Given the description of an element on the screen output the (x, y) to click on. 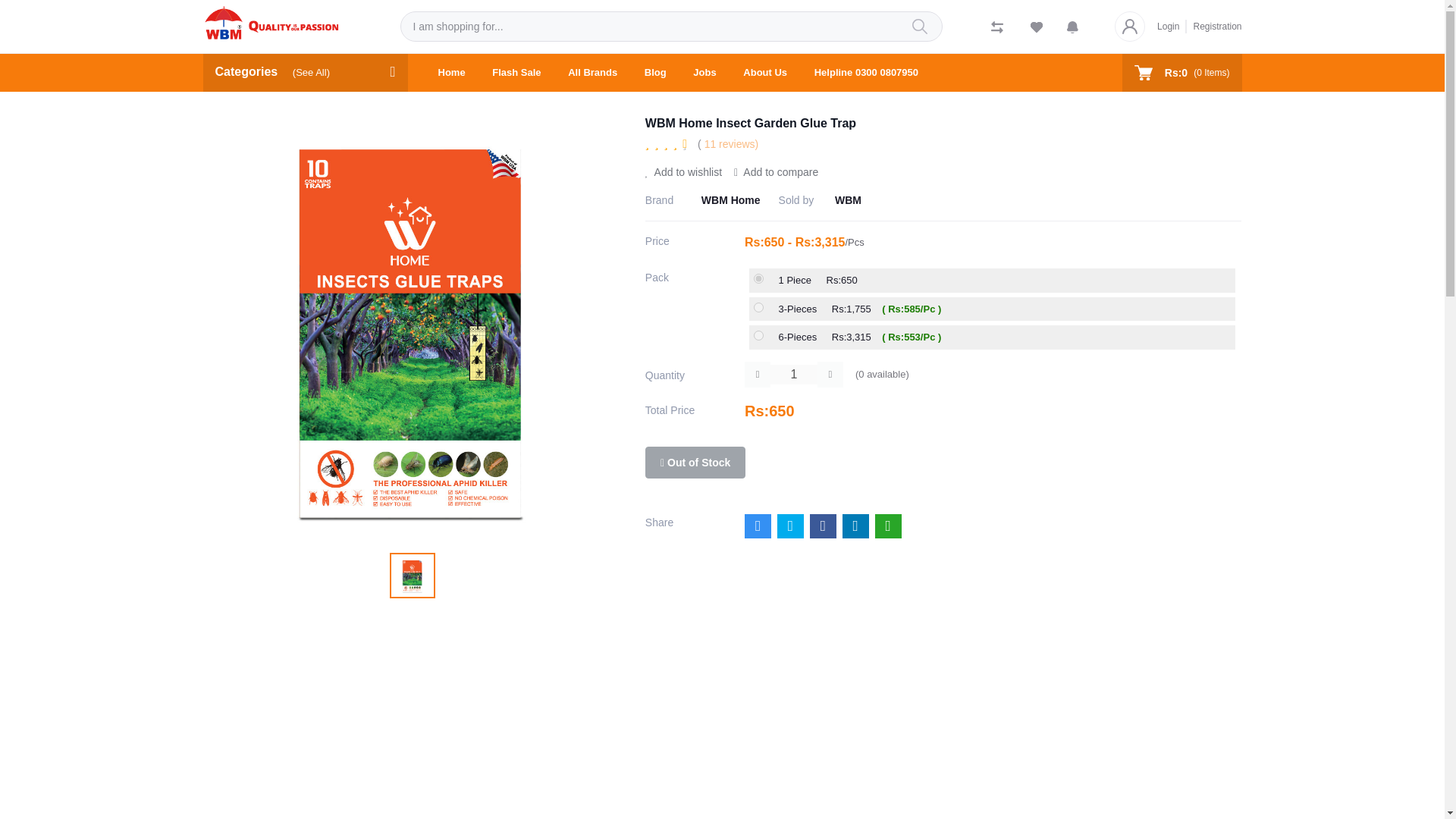
All Brands (592, 72)
Jobs (704, 72)
1 (793, 374)
About Us (764, 72)
1 Piece (758, 278)
6-Pieces (758, 335)
Helpline 0300 0807950 (866, 72)
Cart (1181, 72)
Registration (1213, 26)
Flash Sale (516, 72)
Blog (654, 72)
Login (1171, 26)
Home (451, 72)
3-Pieces (758, 307)
